Given the description of an element on the screen output the (x, y) to click on. 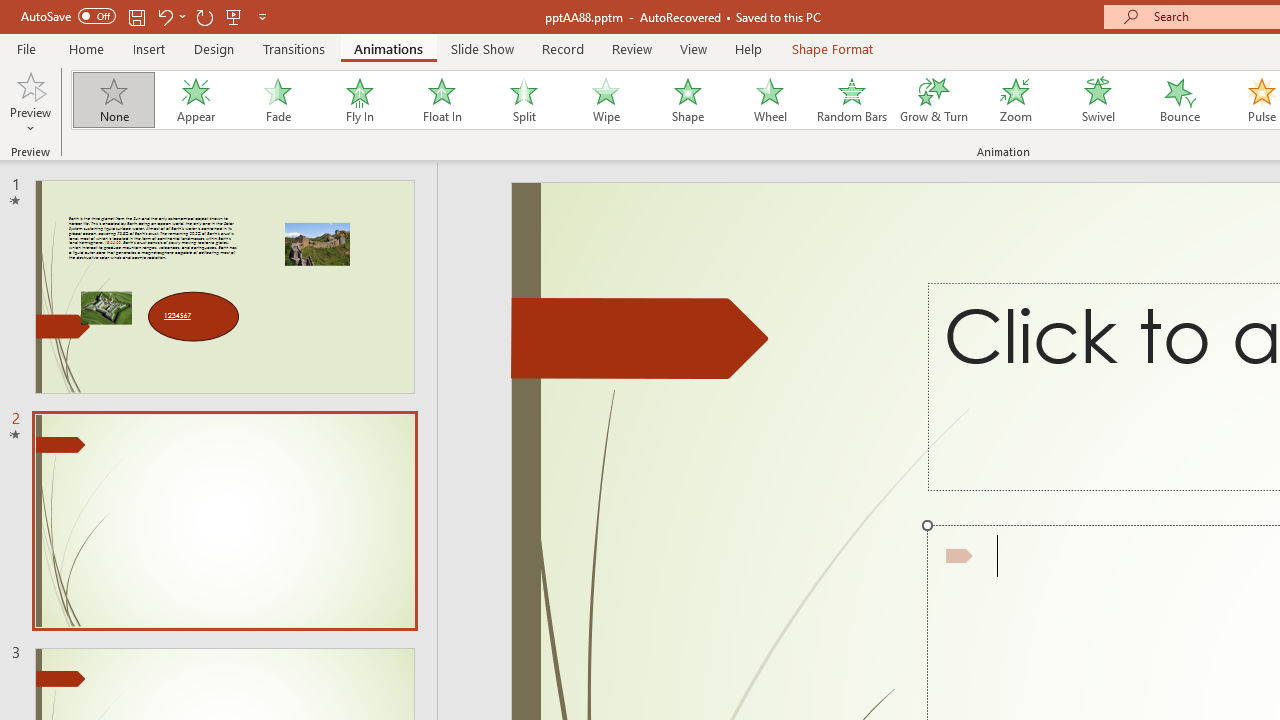
Bounce (1180, 100)
Grow & Turn (934, 100)
Fly In (359, 100)
Swivel (1098, 100)
